Given the description of an element on the screen output the (x, y) to click on. 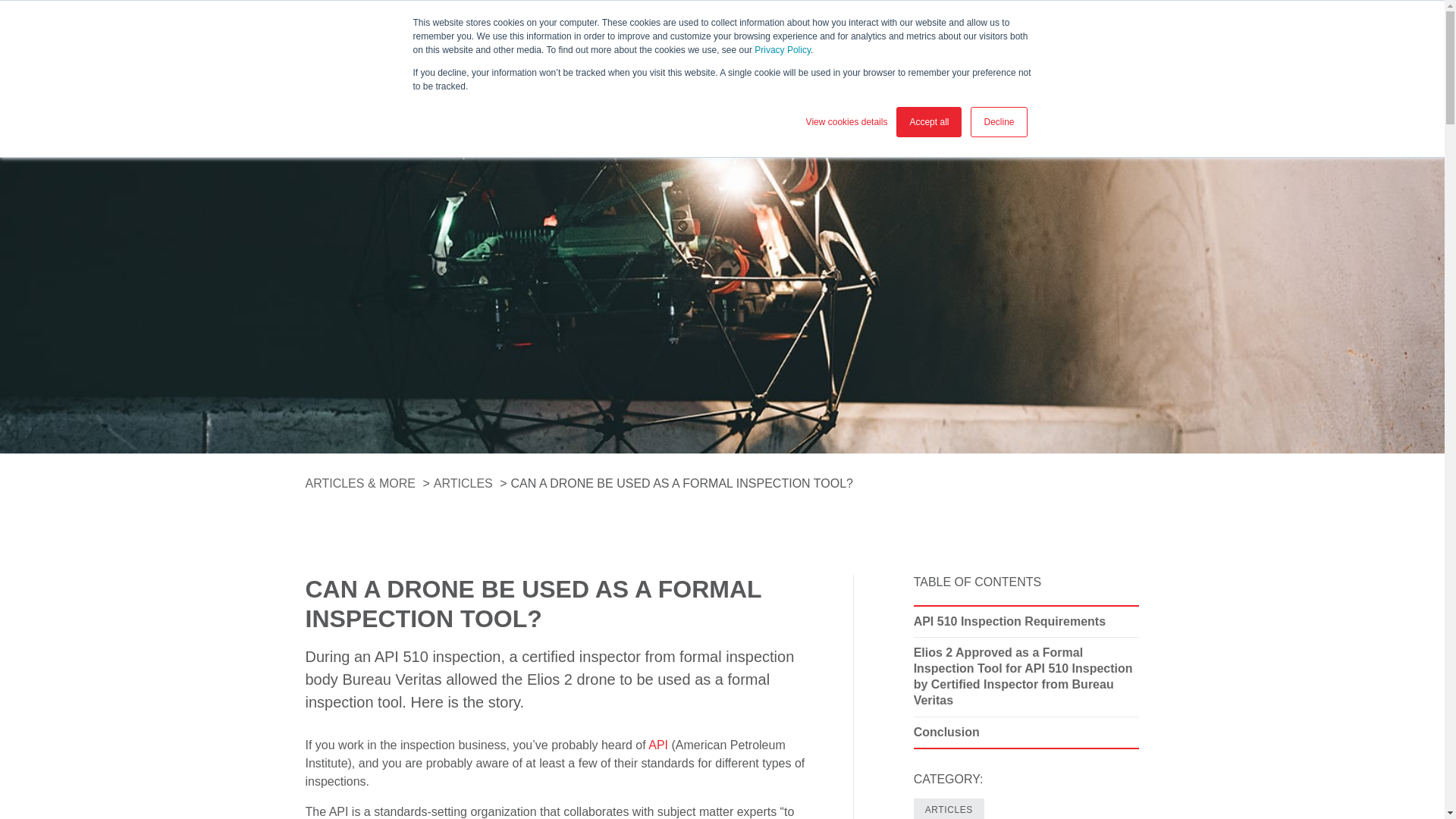
Talk to sales (1074, 57)
MY DRONES (978, 15)
Decline (998, 122)
ABOUT US (1064, 15)
Accept all (928, 122)
Privacy Policy (782, 50)
View cookies details (847, 121)
EN (1126, 15)
PRODUCTS (465, 65)
